Given the description of an element on the screen output the (x, y) to click on. 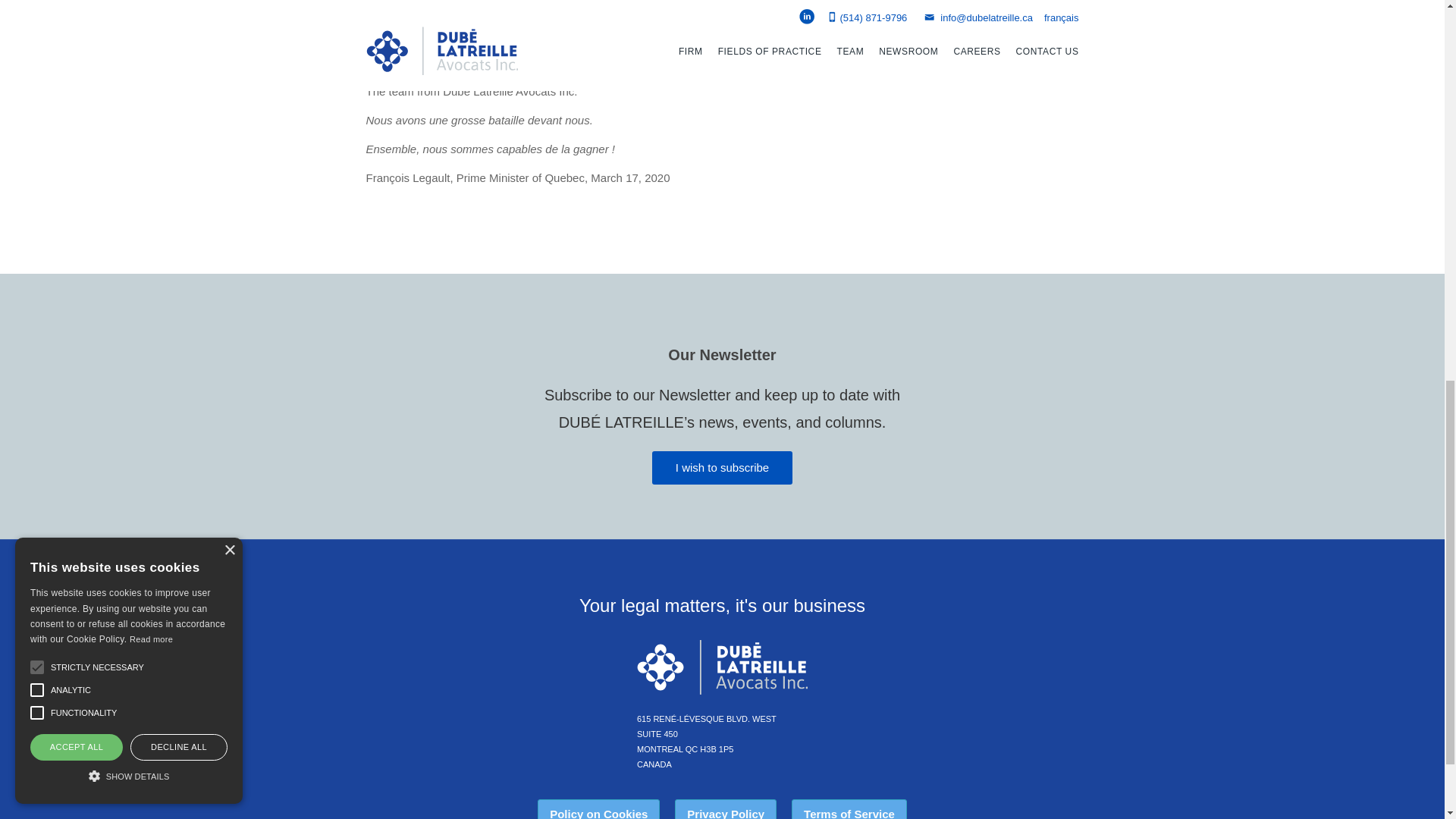
I wish to subscribe (722, 467)
